Given the description of an element on the screen output the (x, y) to click on. 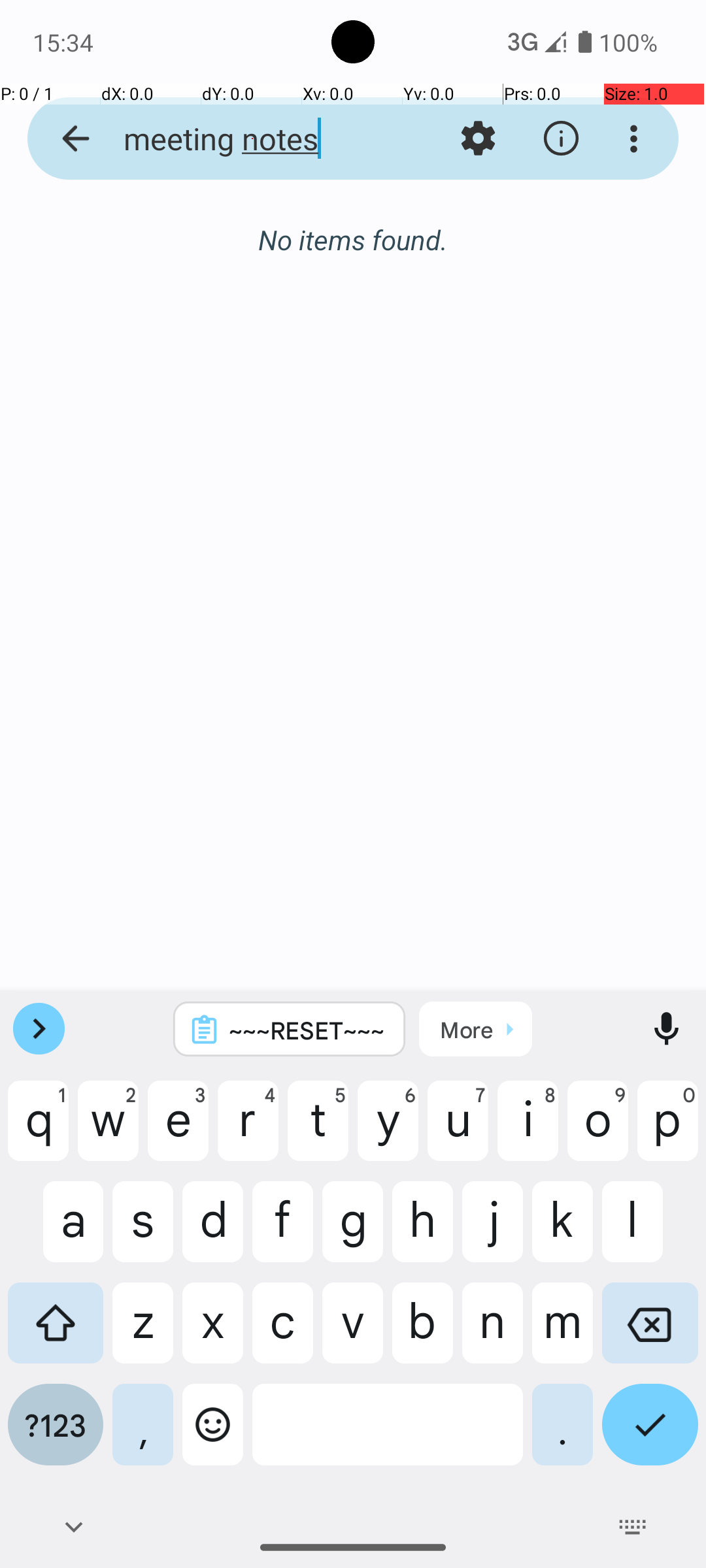
meeting notes Element type: android.widget.EditText (252, 138)
